Given the description of an element on the screen output the (x, y) to click on. 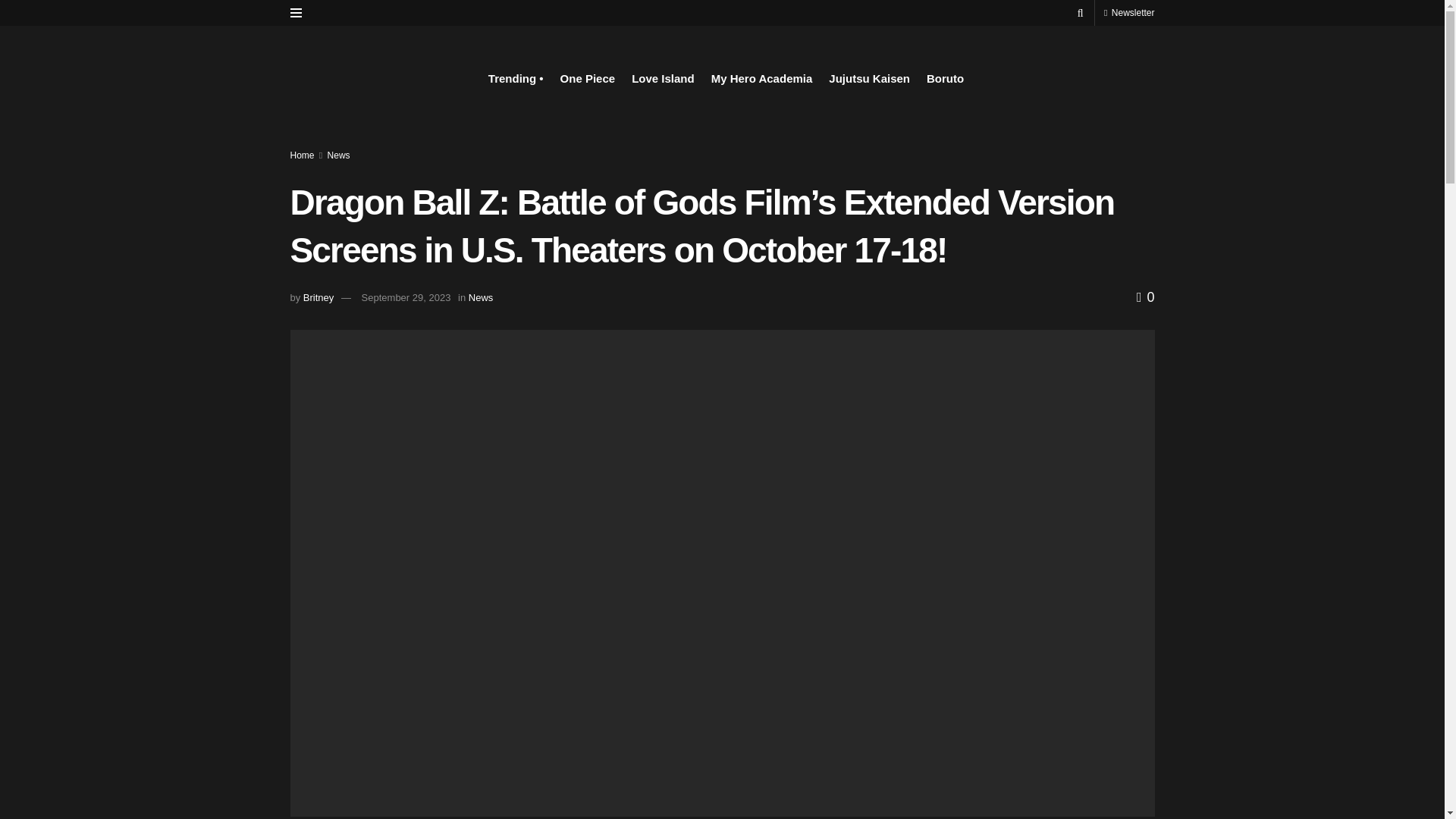
September 29, 2023 (406, 297)
Love Island (662, 78)
Boruto (944, 78)
0 (1145, 296)
Home (301, 154)
One Piece (587, 78)
News (338, 154)
My Hero Academia (761, 78)
Britney (317, 297)
Newsletter (1128, 12)
